Given the description of an element on the screen output the (x, y) to click on. 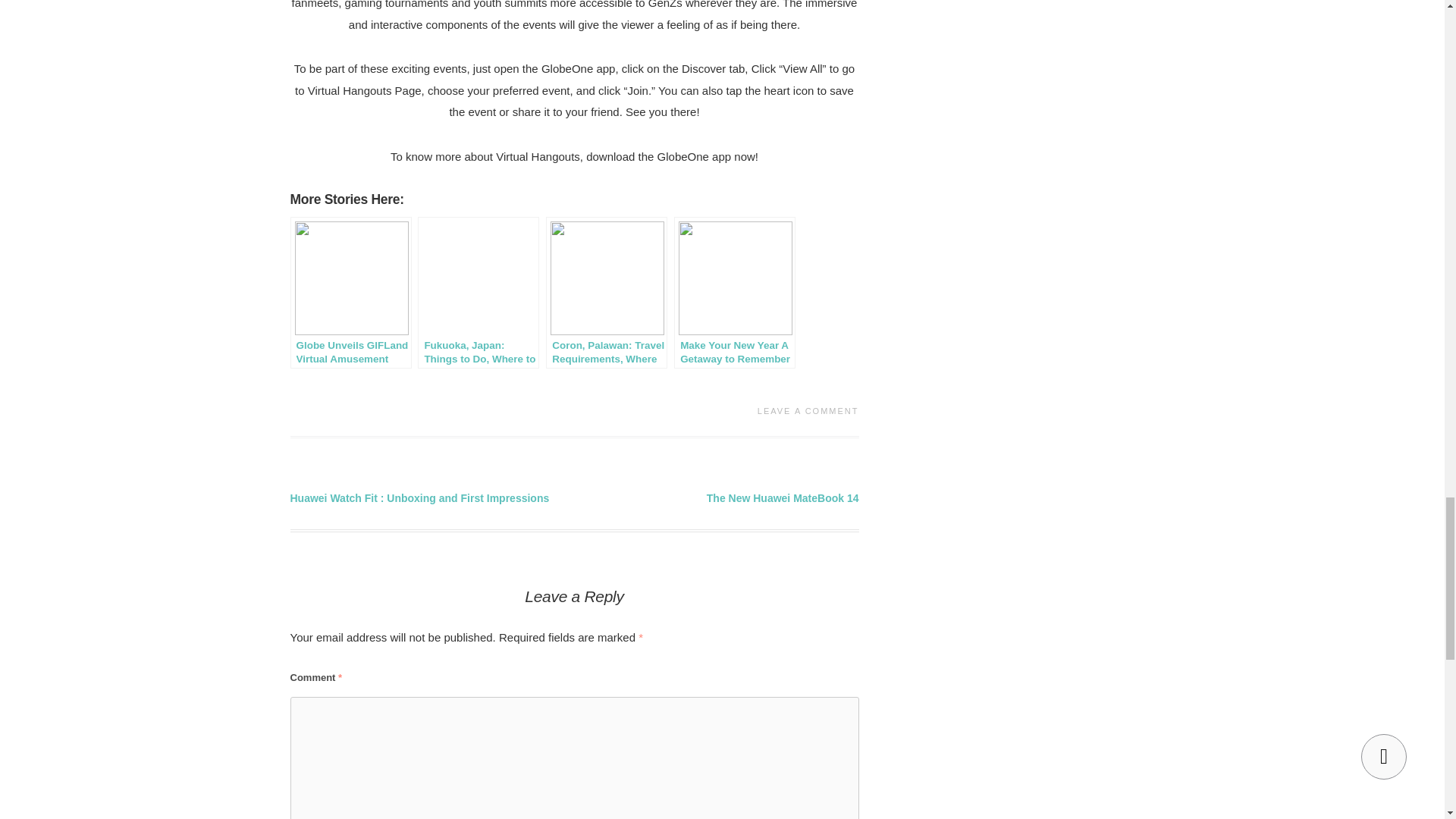
Globe Unveils GIFLand Virtual Amusement Park for 917 Day (349, 292)
LEAVE A COMMENT (808, 410)
The New Huawei MateBook 14 (782, 498)
Huawei Watch Fit : Unboxing and First Impressions (418, 498)
